Given the description of an element on the screen output the (x, y) to click on. 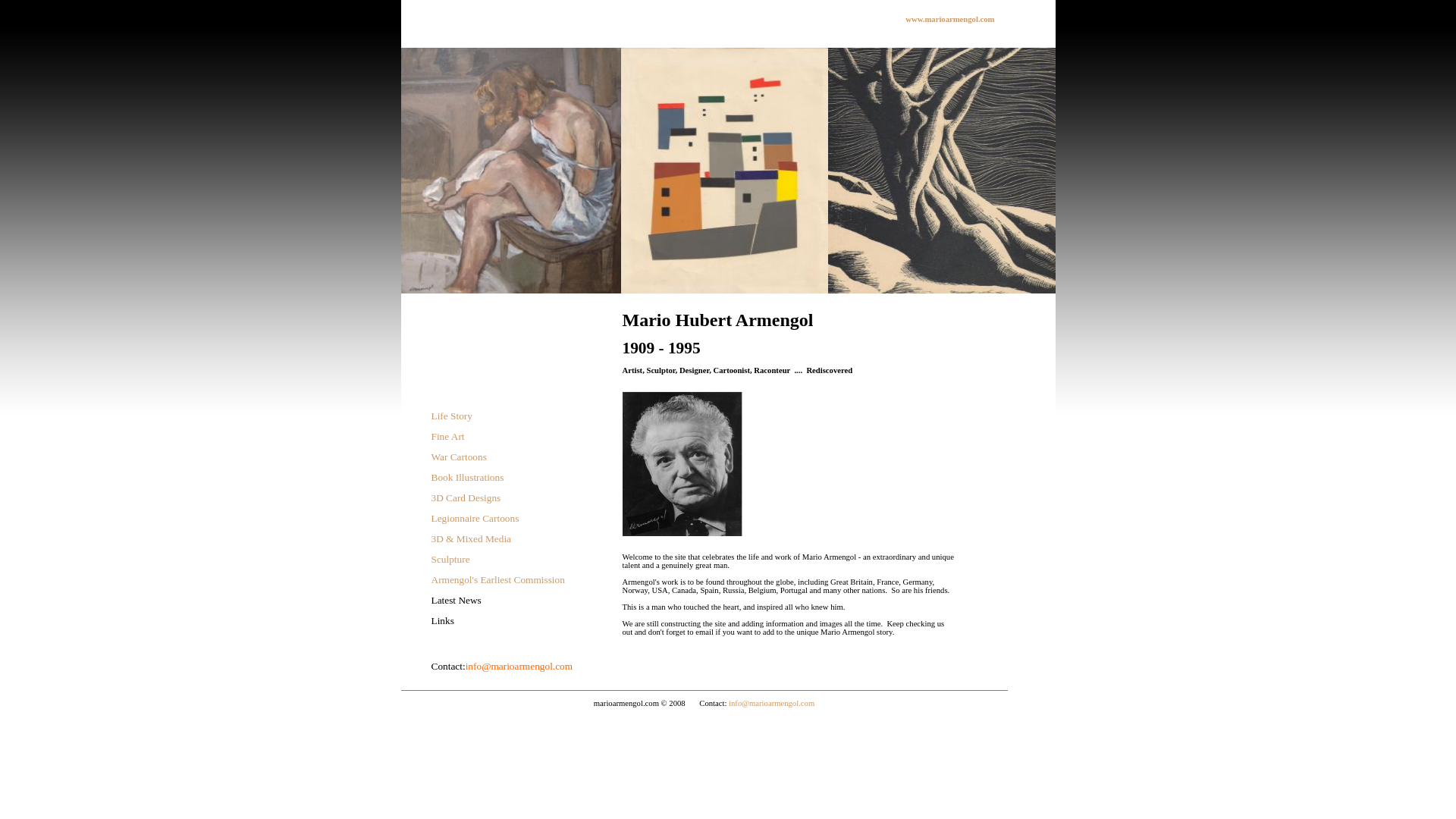
Legionnaire Cartoons (474, 518)
Book Illustrations (466, 477)
www.marioarmengol.com (949, 19)
Life Story (450, 415)
Sculpture (449, 559)
Fine Art (447, 436)
3D Card Designs (465, 497)
Armengol's Earliest Commission (497, 579)
War Cartoons (458, 456)
